Given the description of an element on the screen output the (x, y) to click on. 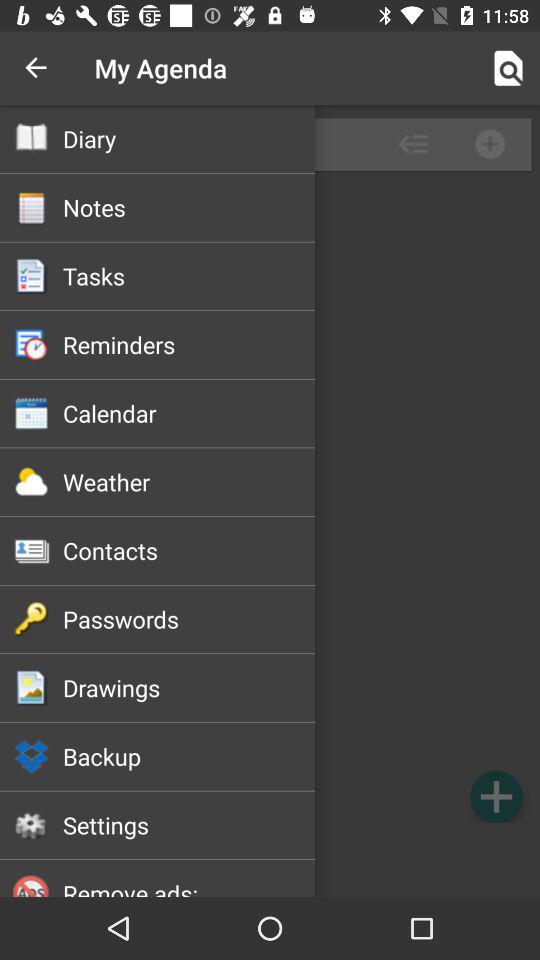
tap icon at the bottom right corner (496, 796)
